Given the description of an element on the screen output the (x, y) to click on. 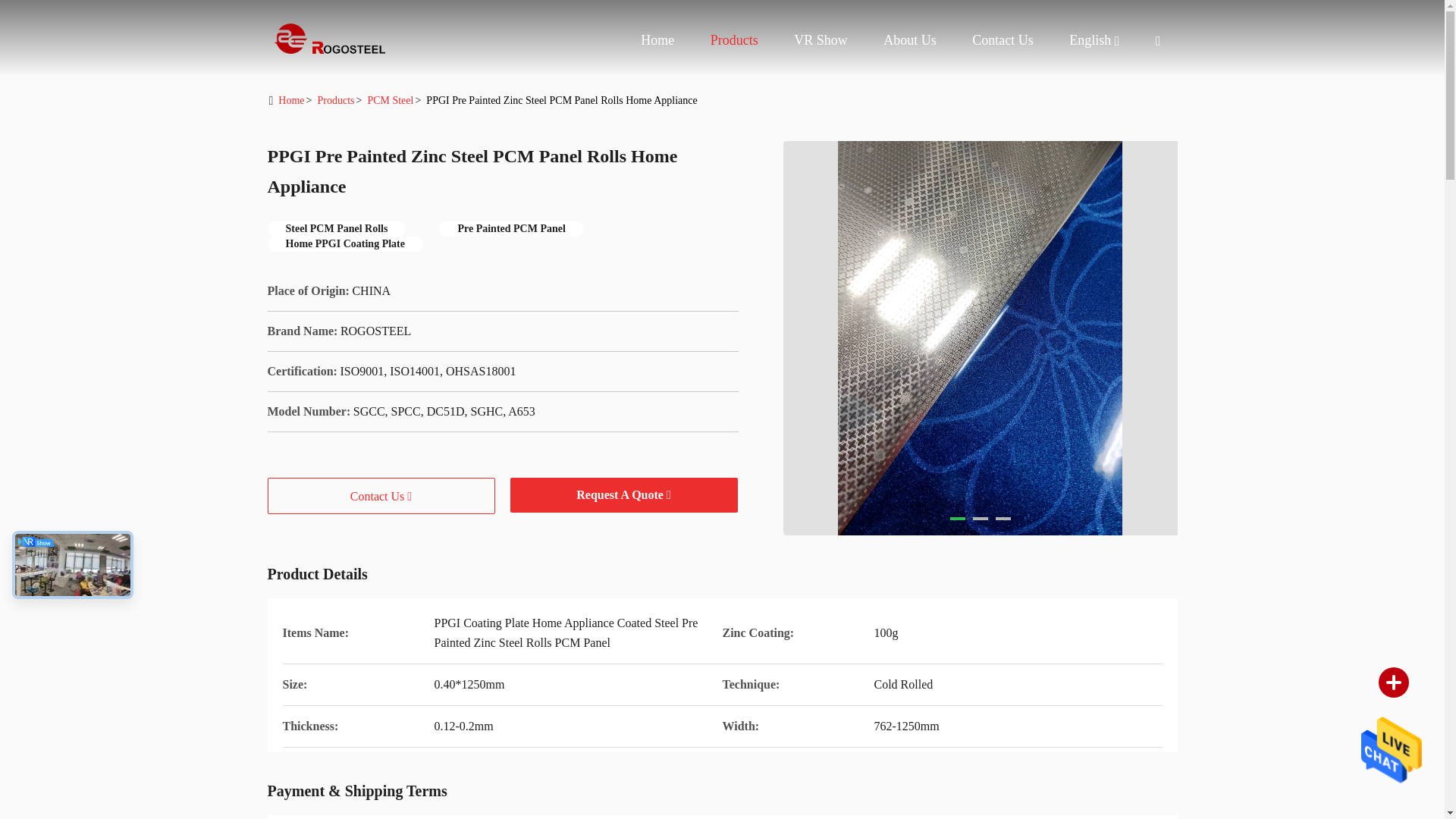
Products (734, 40)
Contact Us (1002, 40)
About Us (909, 40)
VR Show (820, 40)
Products (734, 40)
VR Show (820, 40)
Home (327, 37)
About Us (909, 40)
